Given the description of an element on the screen output the (x, y) to click on. 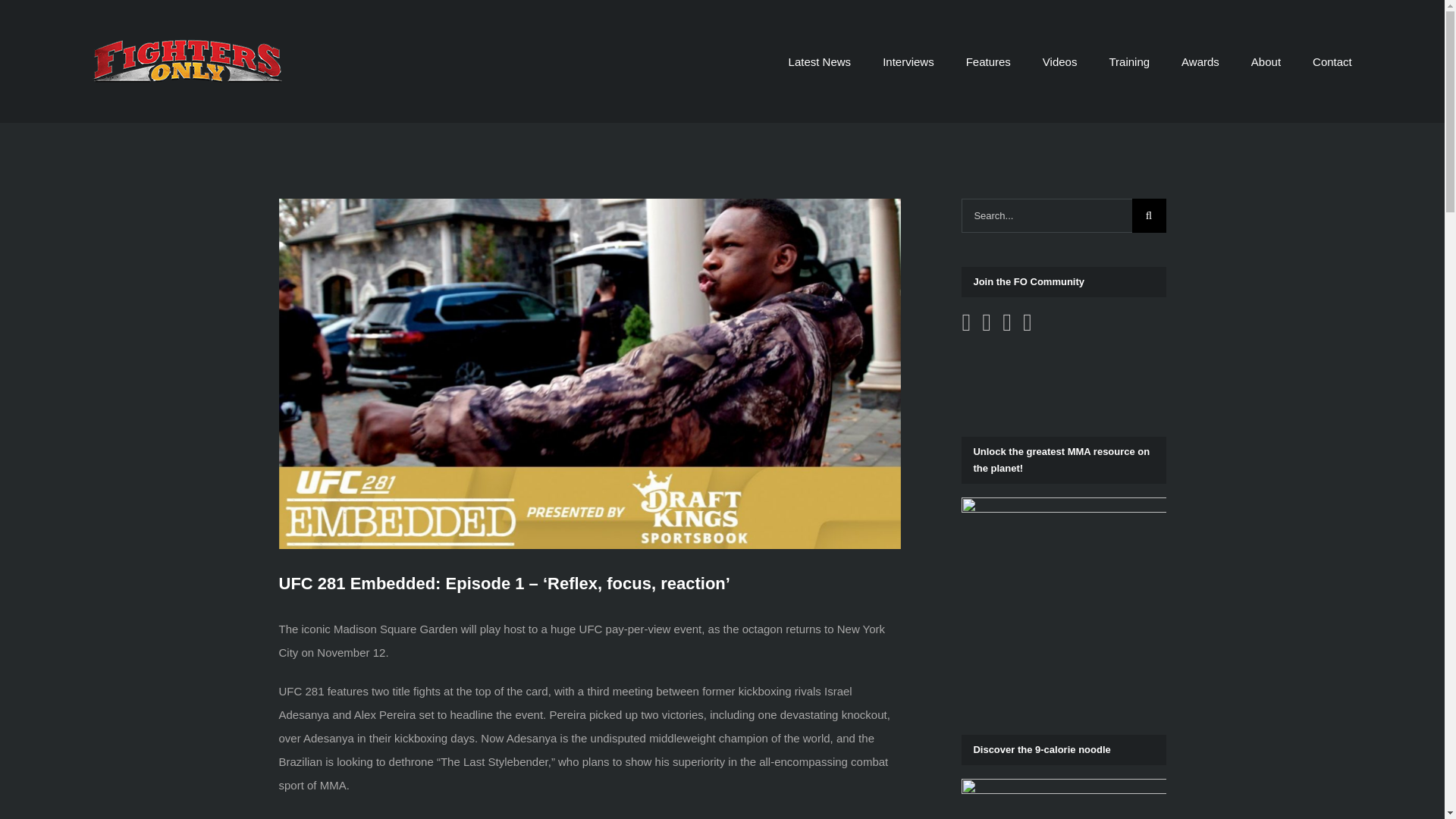
Interviews (908, 61)
Latest News (820, 61)
